Given the description of an element on the screen output the (x, y) to click on. 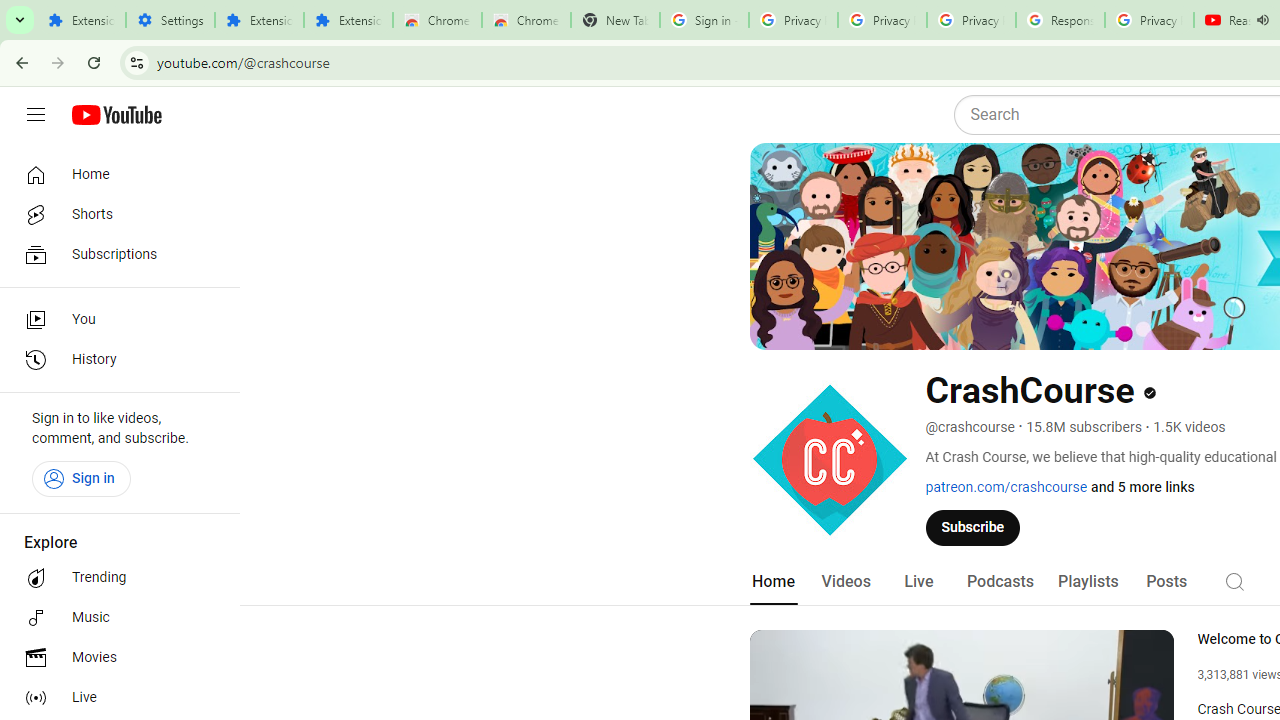
Subscriptions (113, 254)
Trending (113, 578)
YouTube Home (116, 115)
Extensions (81, 20)
History (113, 359)
Shorts (113, 214)
Extensions (259, 20)
